Given the description of an element on the screen output the (x, y) to click on. 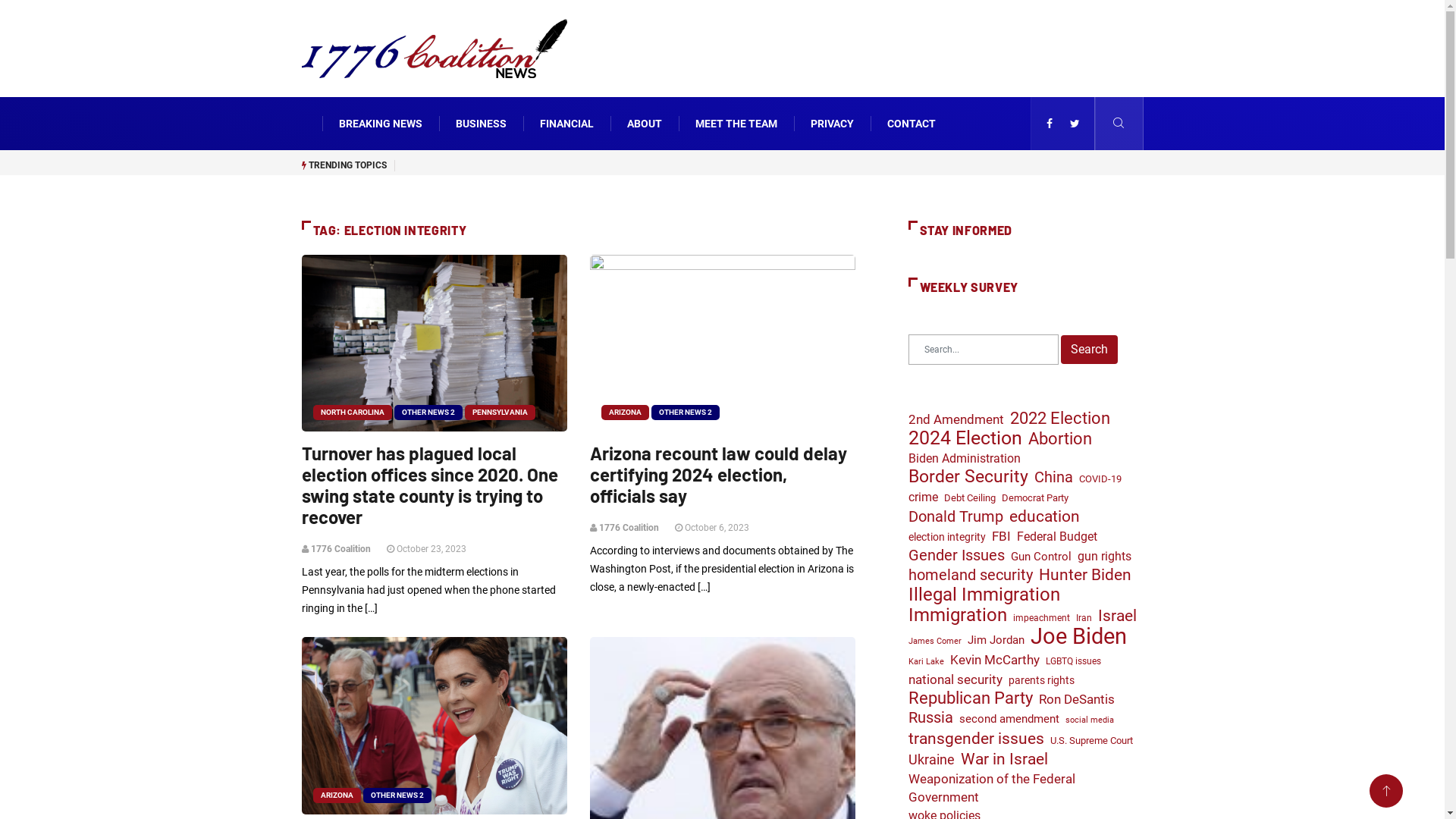
Iran Element type: text (1083, 617)
gun rights Element type: text (1103, 556)
Ukraine Element type: text (931, 759)
NORTH CAROLINA Element type: text (351, 412)
PENNSYLVANIA Element type: text (499, 412)
Gender Issues Element type: text (956, 555)
Debt Ceiling Element type: text (968, 498)
OTHER NEWS 2 Element type: text (684, 412)
Illegal Immigration Element type: text (984, 594)
Immigration Element type: text (957, 614)
impeachment Element type: text (1041, 617)
OTHER NEWS 2 Element type: text (428, 412)
crime Element type: text (923, 497)
Abortion Element type: text (1060, 438)
education Element type: text (1043, 516)
election integrity Element type: text (946, 536)
Israel Element type: text (1117, 615)
2024 Election Element type: text (965, 438)
Ron DeSantis Element type: text (1076, 699)
parents rights Element type: text (1041, 680)
FINANCIAL Element type: text (566, 123)
China Element type: text (1053, 476)
OTHER NEWS 2 Element type: text (396, 795)
James Comer Element type: text (934, 641)
COVID-19 Element type: text (1099, 479)
Democrat Party Element type: text (1034, 498)
ARIZONA Element type: text (624, 412)
War in Israel Element type: text (1003, 758)
FBI Element type: text (1000, 536)
facebook Element type: hover (1049, 123)
BREAKING NEWS Element type: text (379, 123)
Hunter Biden Element type: text (1084, 574)
ABOUT Element type: text (643, 123)
CONTACT Element type: text (911, 123)
Gun Control Element type: text (1040, 556)
Republican Party Element type: text (970, 698)
Federal Budget Element type: text (1056, 536)
ARIZONA Element type: text (336, 795)
Donald Trump Element type: text (955, 517)
1776 Coalition Element type: text (340, 548)
Border Security Element type: text (968, 476)
U.S. Supreme Court Element type: text (1090, 740)
2022 Election Element type: text (1060, 417)
1776 Coalition Element type: text (628, 527)
second amendment Element type: text (1008, 718)
MEET THE TEAM Element type: text (735, 123)
Search Element type: text (1088, 349)
BUSINESS Element type: text (480, 123)
homeland security Element type: text (970, 575)
PRIVACY Element type: text (831, 123)
social media Element type: text (1088, 720)
Biden Administration Element type: text (964, 458)
Russia Element type: text (930, 718)
national security Element type: text (955, 680)
twitter Element type: hover (1073, 123)
LGBTQ issues Element type: text (1072, 661)
Joe Biden Element type: text (1077, 636)
transgender issues Element type: text (976, 738)
Weaponization of the Federal Government Element type: text (1023, 787)
2nd Amendment Element type: text (956, 419)
Kevin McCarthy Element type: text (993, 659)
Jim Jordan Element type: text (995, 639)
Kari Lake Element type: text (926, 661)
